Given the description of an element on the screen output the (x, y) to click on. 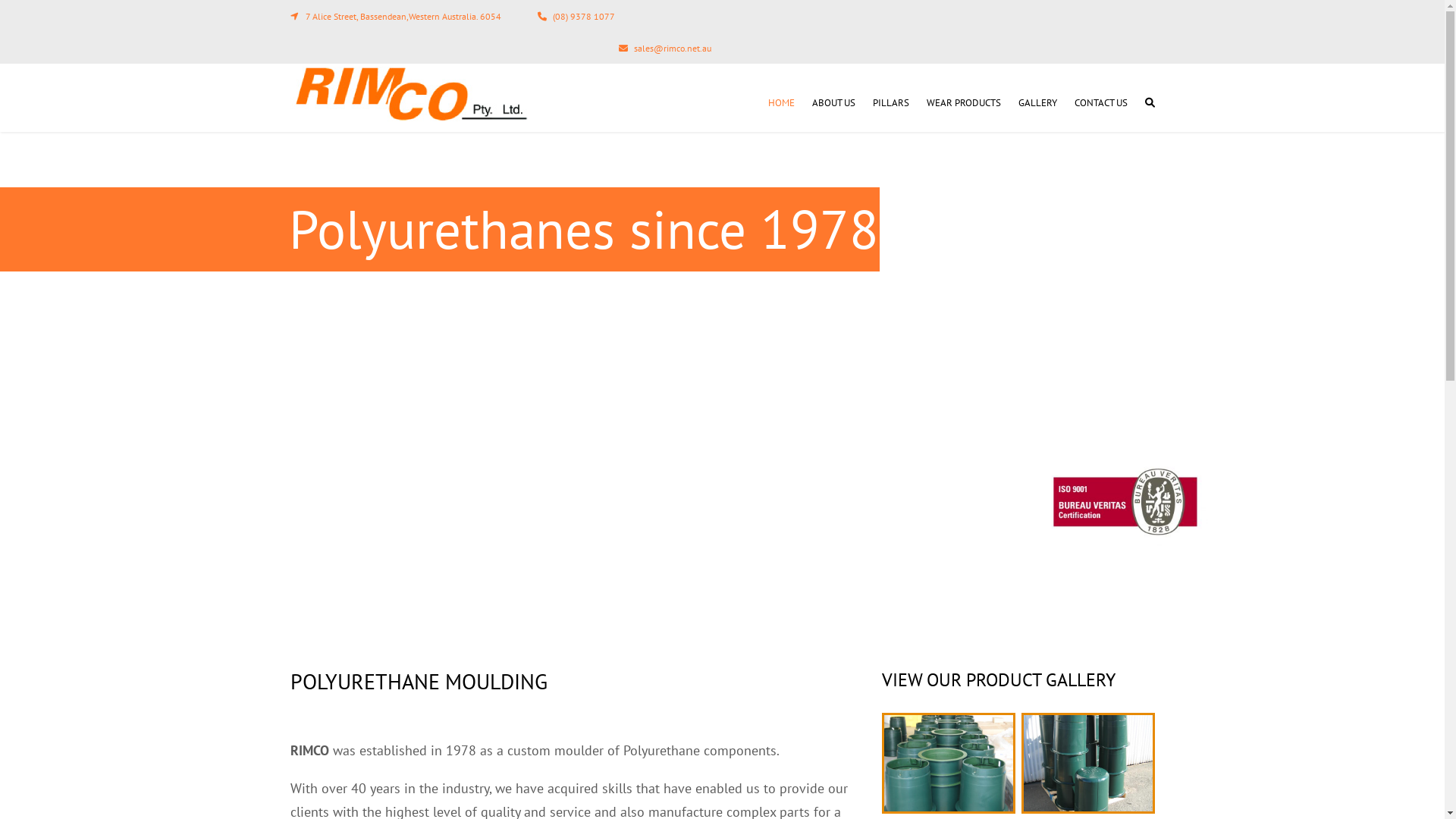
PILLARS Element type: text (890, 102)
WEAR PRODUCTS Element type: text (963, 102)
sales@rimco.net.au Element type: text (672, 47)
VIEW OUR PRODUCT GALLERY Element type: text (997, 679)
(08) 9378 1077 Element type: text (583, 15)
HOME Element type: text (780, 102)
ABOUT US Element type: text (832, 102)
CONTACT US Element type: text (1100, 102)
7 Alice Street, Bassendean,Western Australia. 6054 Element type: text (402, 15)
GALLERY Element type: text (1036, 102)
